Given the description of an element on the screen output the (x, y) to click on. 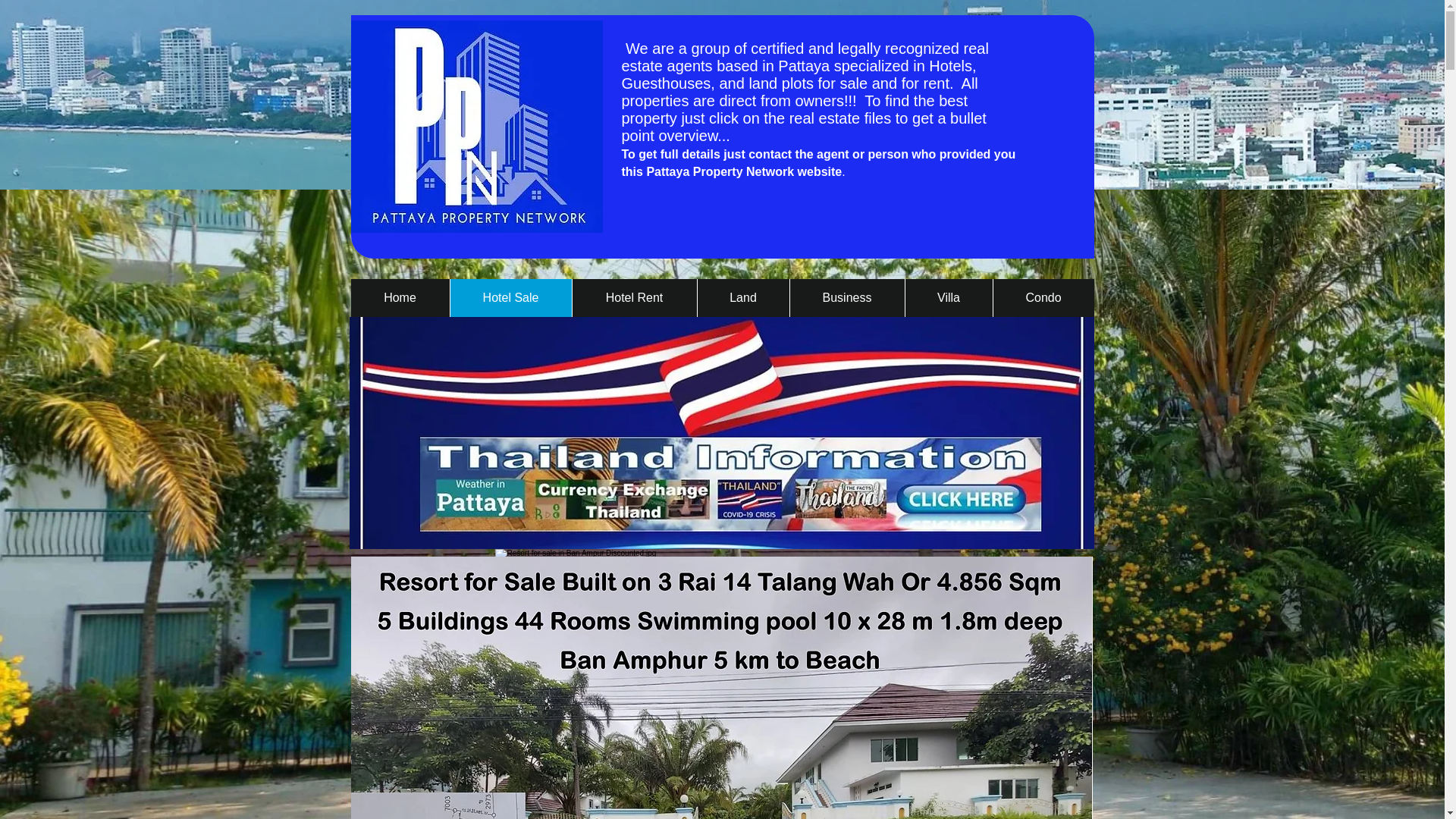
Hotel Sale (509, 297)
Home (399, 297)
